Given the description of an element on the screen output the (x, y) to click on. 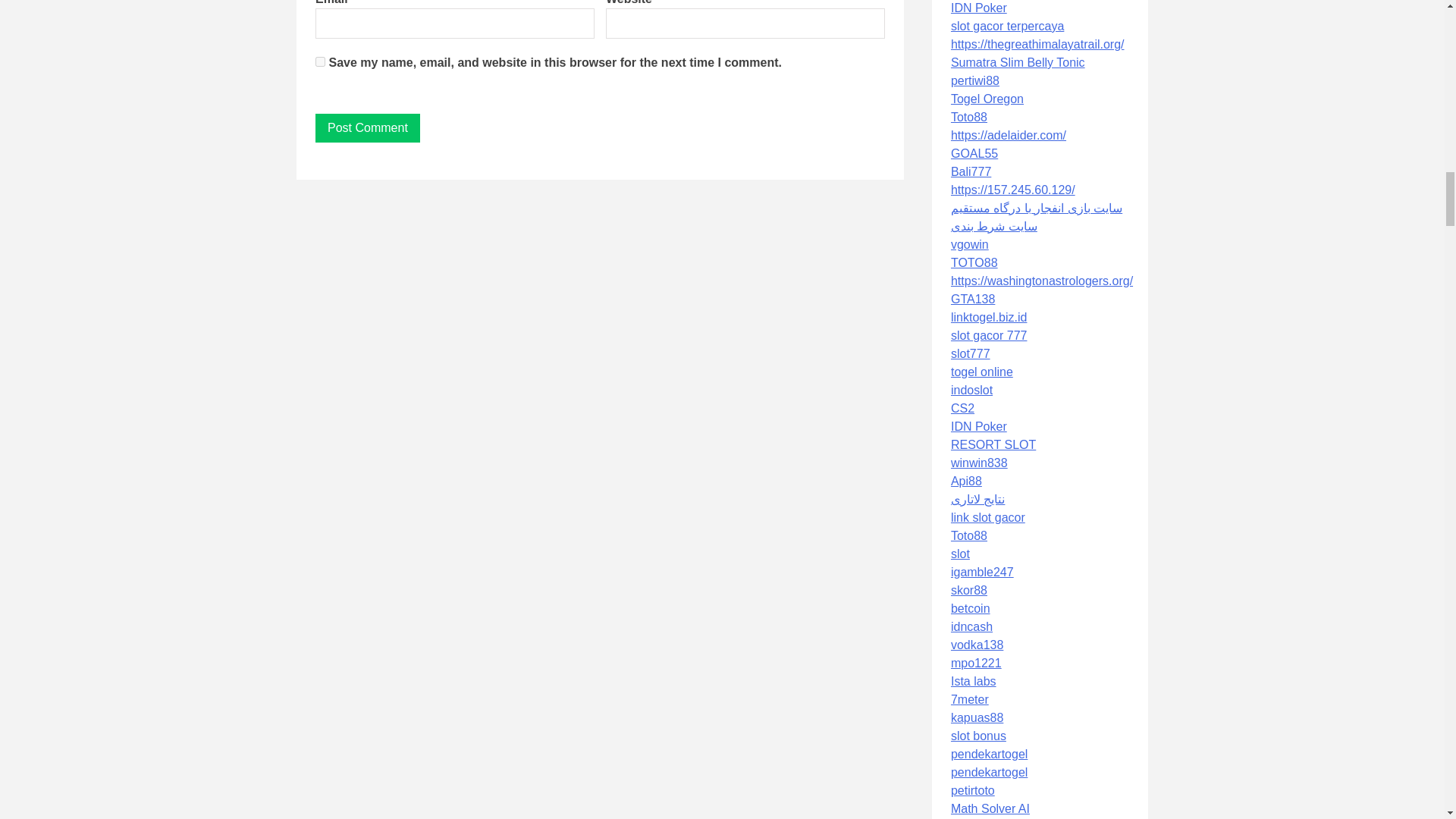
yes (319, 61)
Post Comment (367, 127)
Post Comment (367, 127)
